Given the description of an element on the screen output the (x, y) to click on. 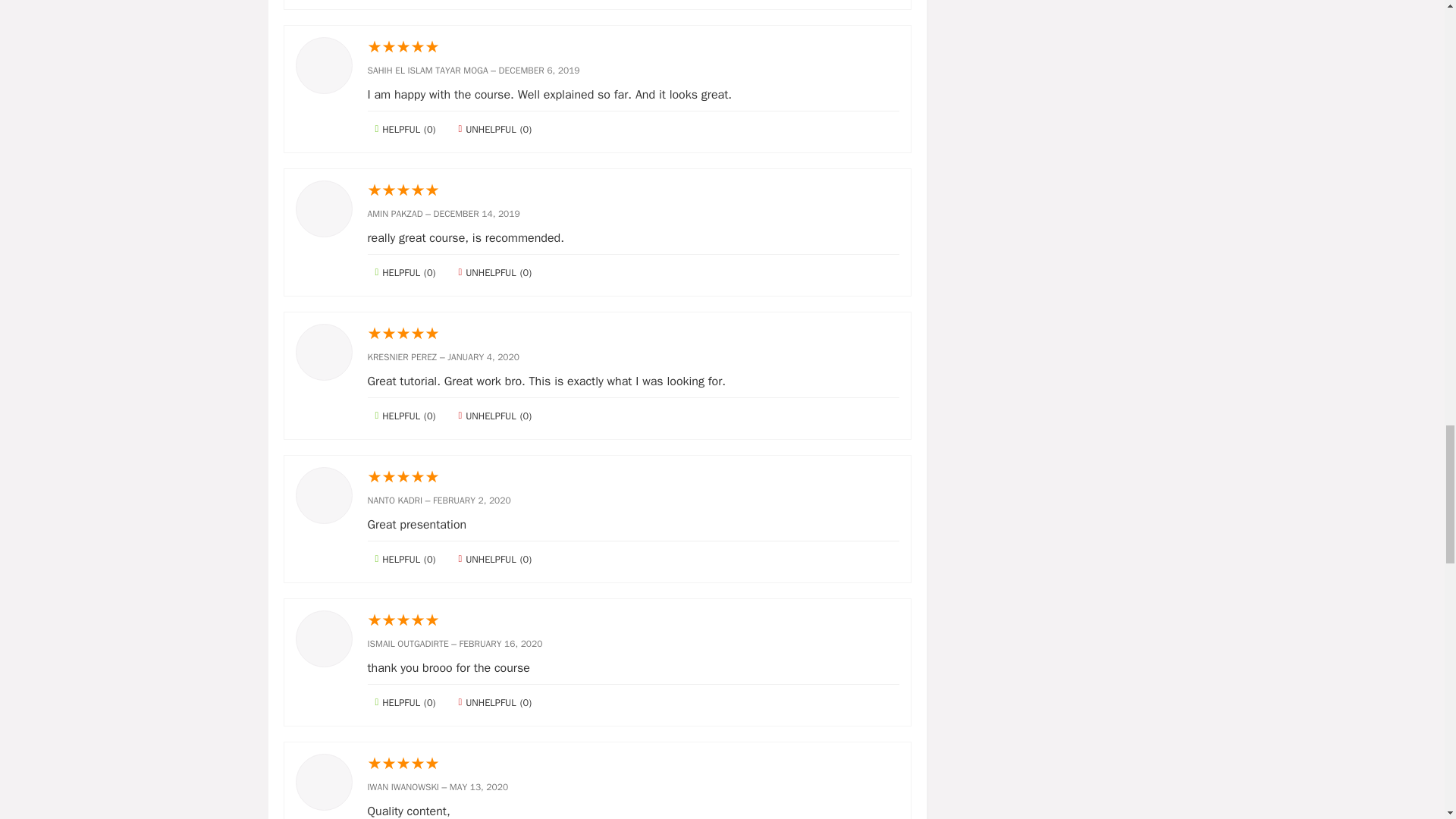
Rated 5 out of 5 (632, 190)
Rated 5 out of 5 (632, 47)
